Given the description of an element on the screen output the (x, y) to click on. 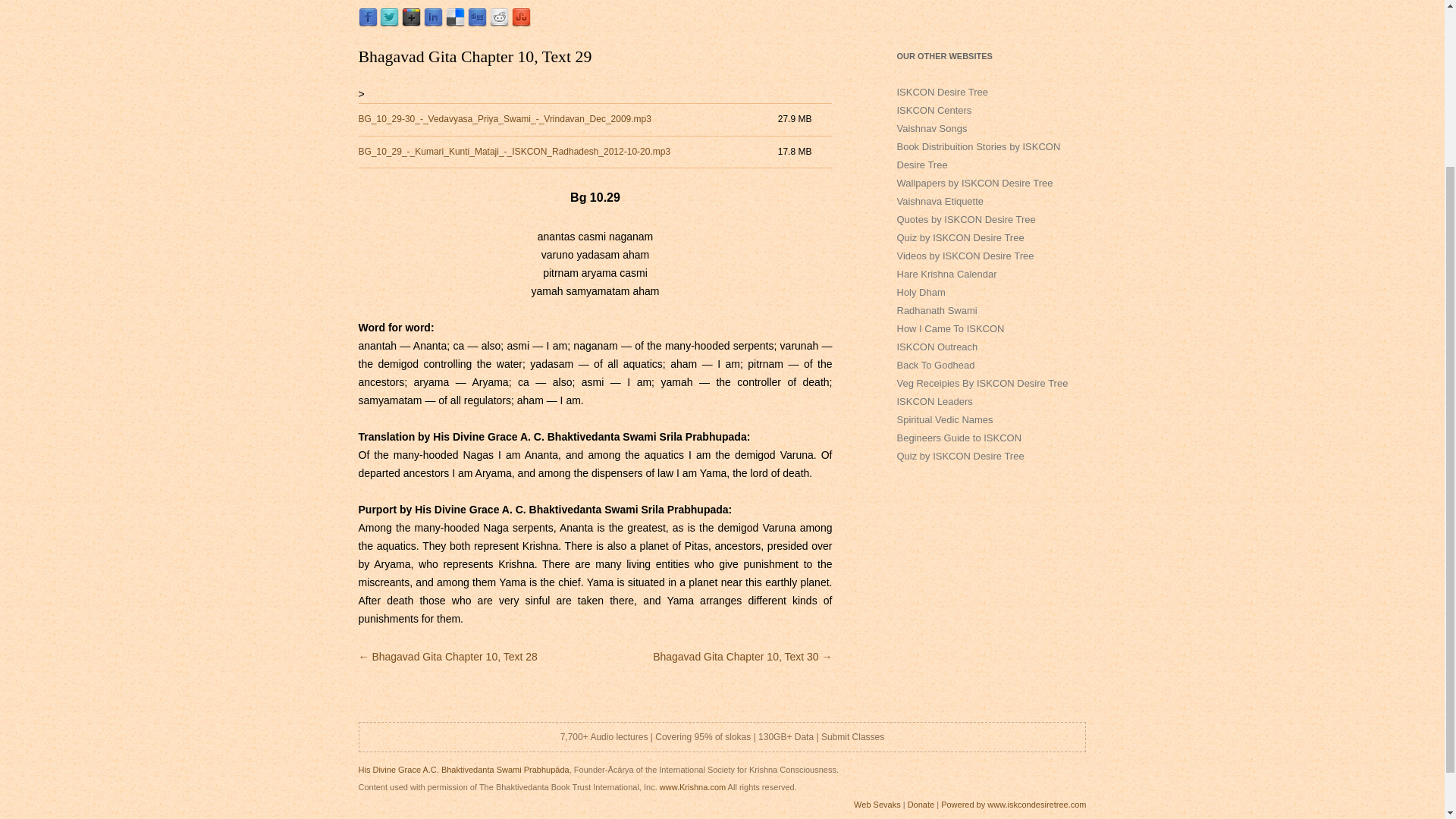
Vaishnava Etiquette (940, 201)
Bookmark Srimad Bhagavatam Class on Delicious (454, 23)
Share Srimad Bhagavatam Class on Linkedin (432, 23)
Digg Srimad Bhagavatam Class! (476, 23)
Share Srimad Bhagavatam Class on Googleplus (410, 23)
Wallpapers by ISKCON Desire Tree (974, 183)
Quotes by ISKCON Desire Tree (965, 219)
Hare Krishna Calendar (945, 274)
Quiz by ISKCON Desire Tree (959, 237)
ISKCON Desire Tree (942, 91)
Book Distribuition Stories by ISKCON Desire Tree (977, 155)
ISKCON Centers (933, 110)
Videos by ISKCON Desire Tree (964, 255)
Share Srimad Bhagavatam Class on Facebook (367, 23)
Tweet Srimad Bhagavatam Class (389, 23)
